Given the description of an element on the screen output the (x, y) to click on. 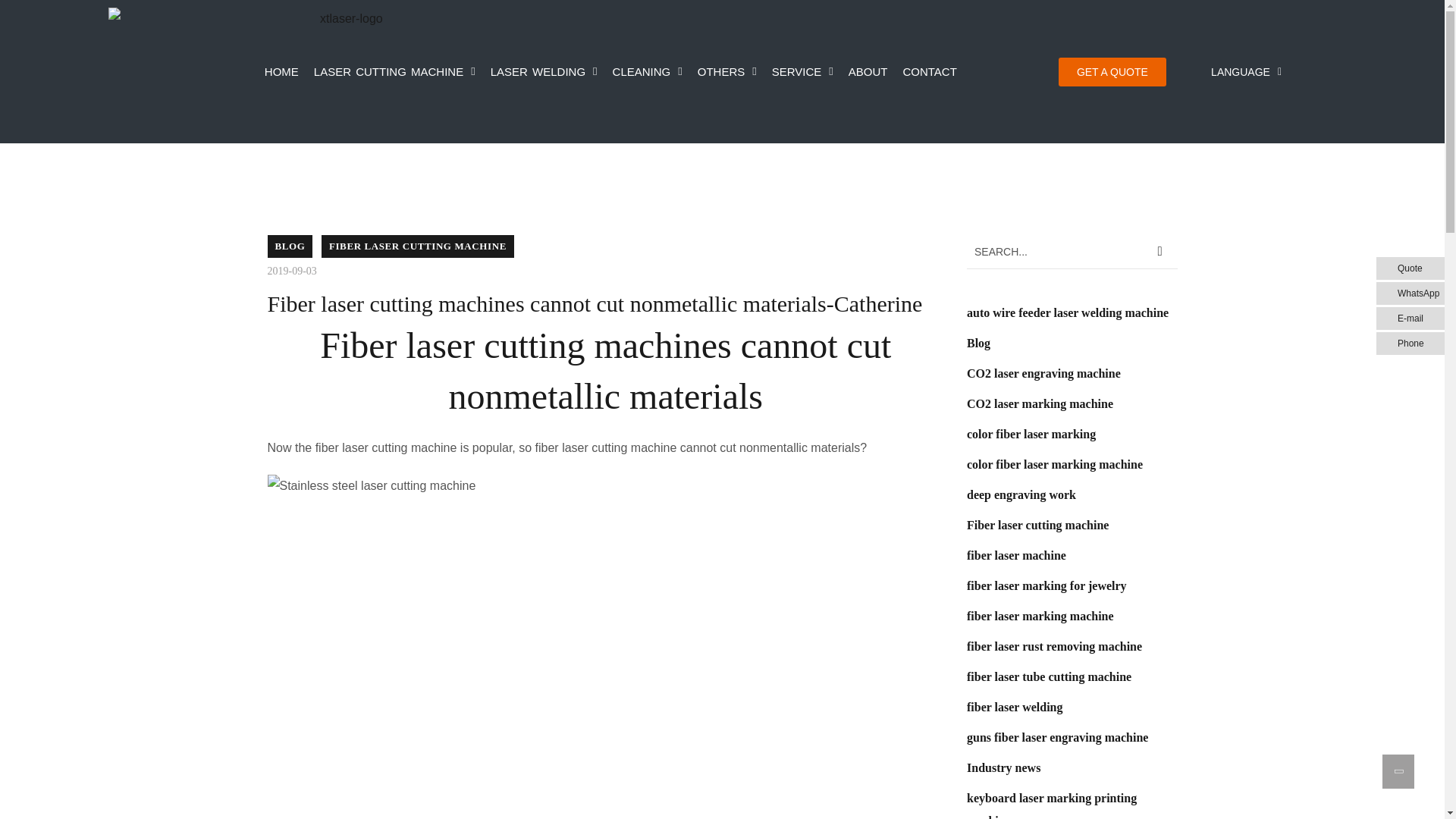
SERVICE (802, 71)
LASER WELDING (544, 71)
CONTACT (929, 71)
OTHERS (727, 71)
HOME (281, 71)
CLEANING (647, 71)
ABOUT (868, 71)
LASER CUTTING MACHINE (394, 71)
